Given the description of an element on the screen output the (x, y) to click on. 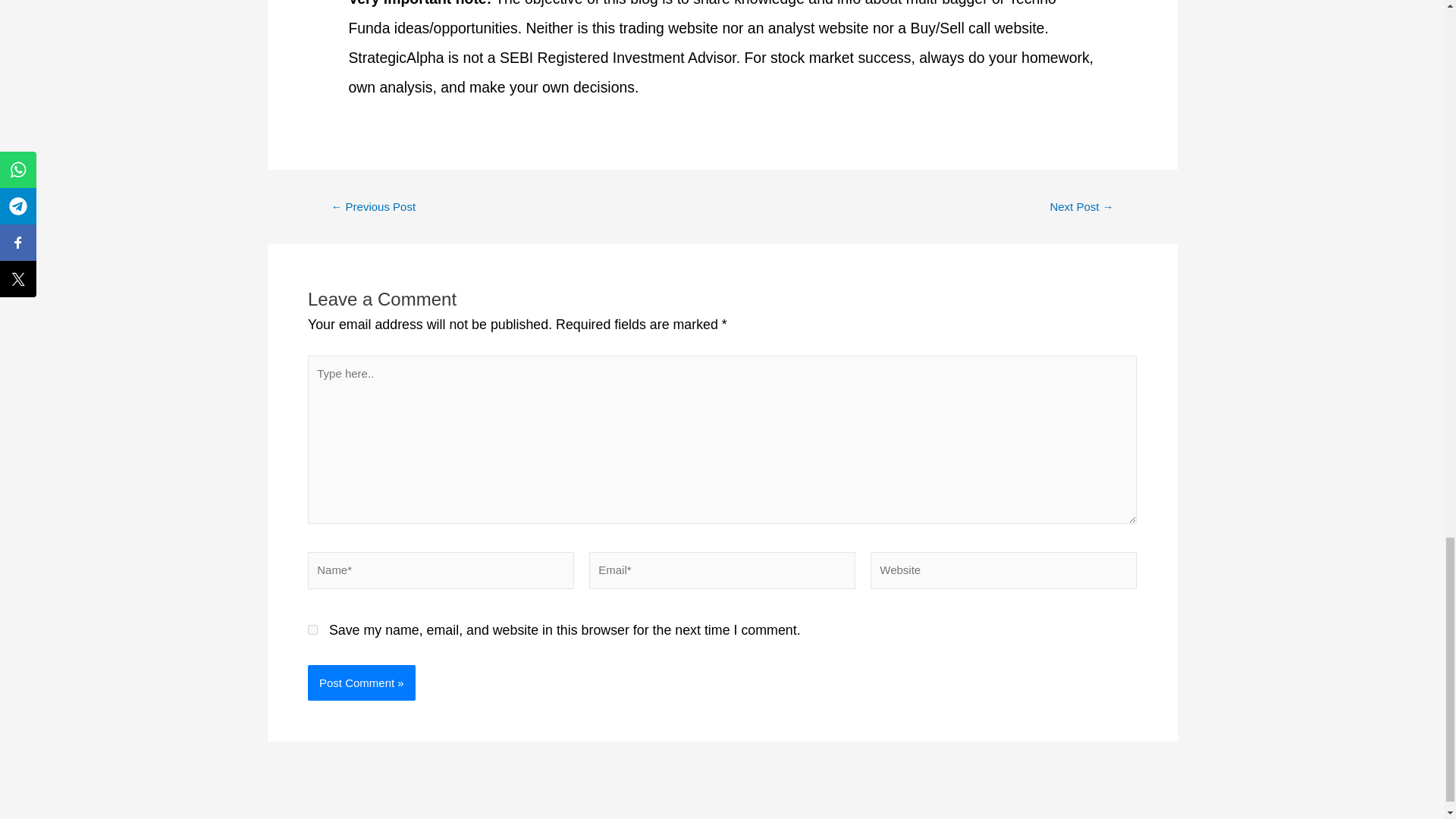
yes (312, 629)
